Given the description of an element on the screen output the (x, y) to click on. 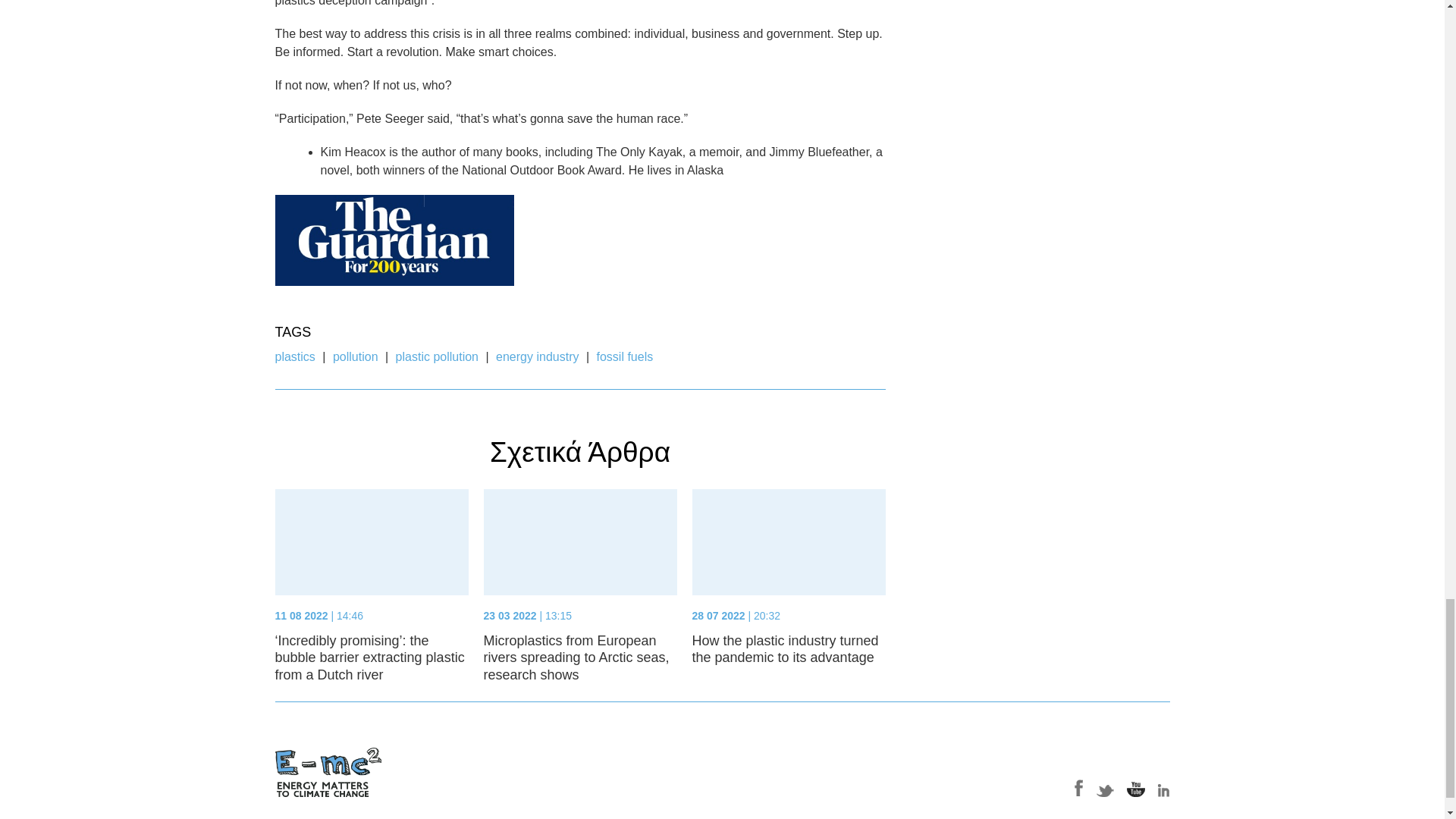
Follow us on Youtube (1135, 787)
Follow us on Twitter (1105, 787)
